Given the description of an element on the screen output the (x, y) to click on. 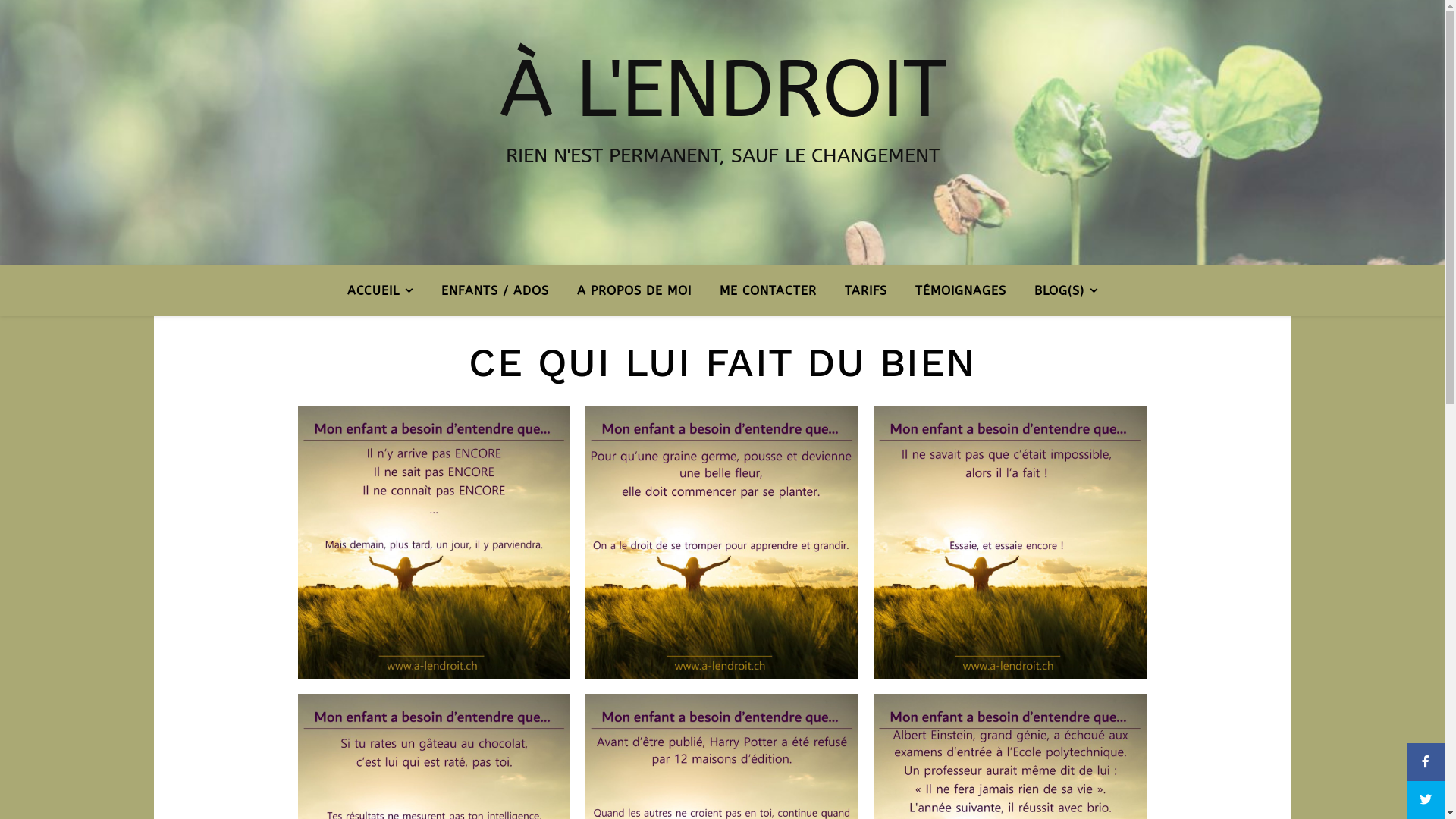
ENFANTS / ADOS Element type: text (495, 290)
TARIFS Element type: text (865, 290)
ACCUEIL Element type: text (386, 290)
A PROPOS DE MOI Element type: text (633, 290)
ME CONTACTER Element type: text (767, 290)
BLOG(S) Element type: text (1060, 290)
